Given the description of an element on the screen output the (x, y) to click on. 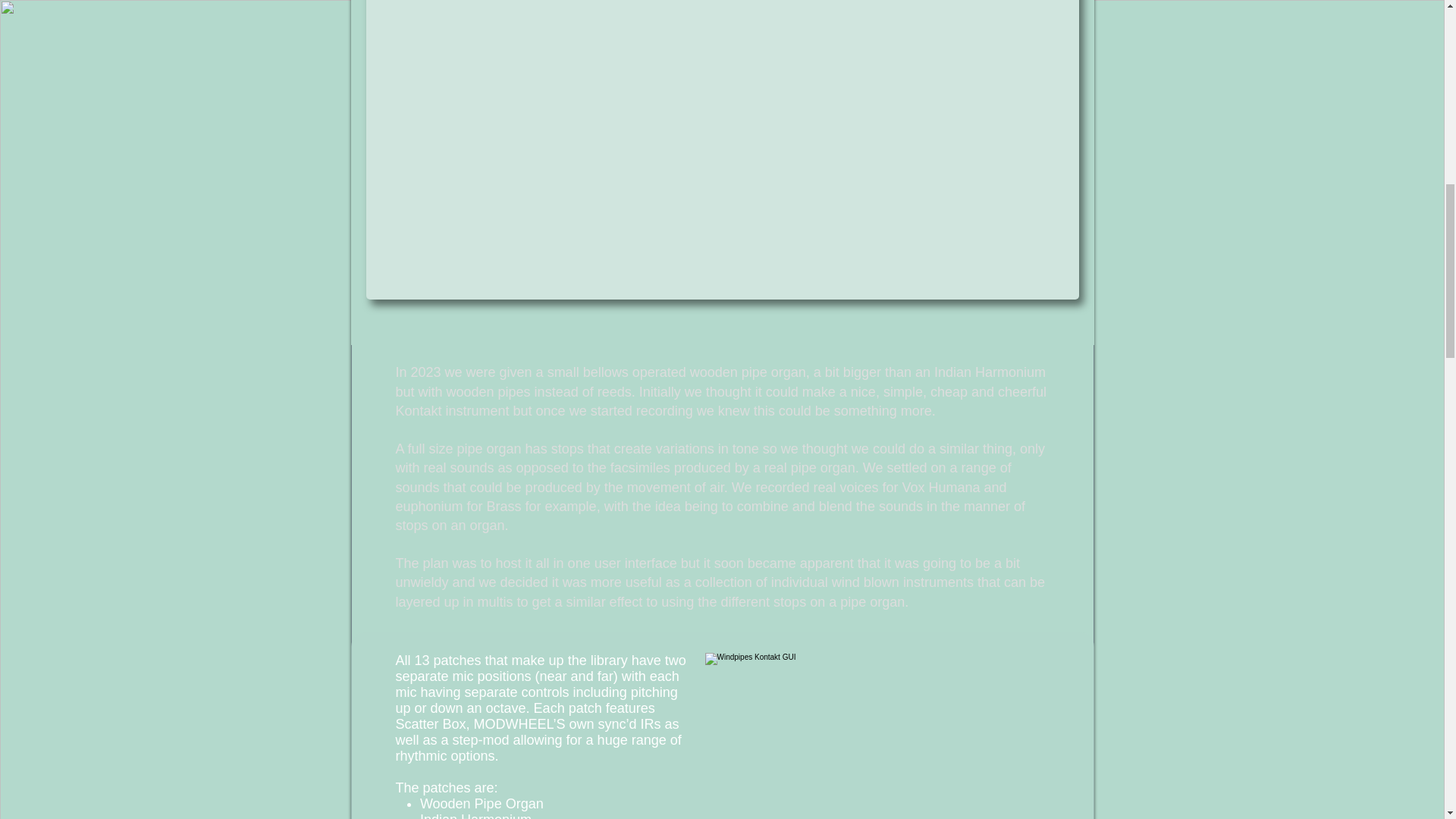
WINDPIPES Main Tab in Kontakt (893, 735)
